Given the description of an element on the screen output the (x, y) to click on. 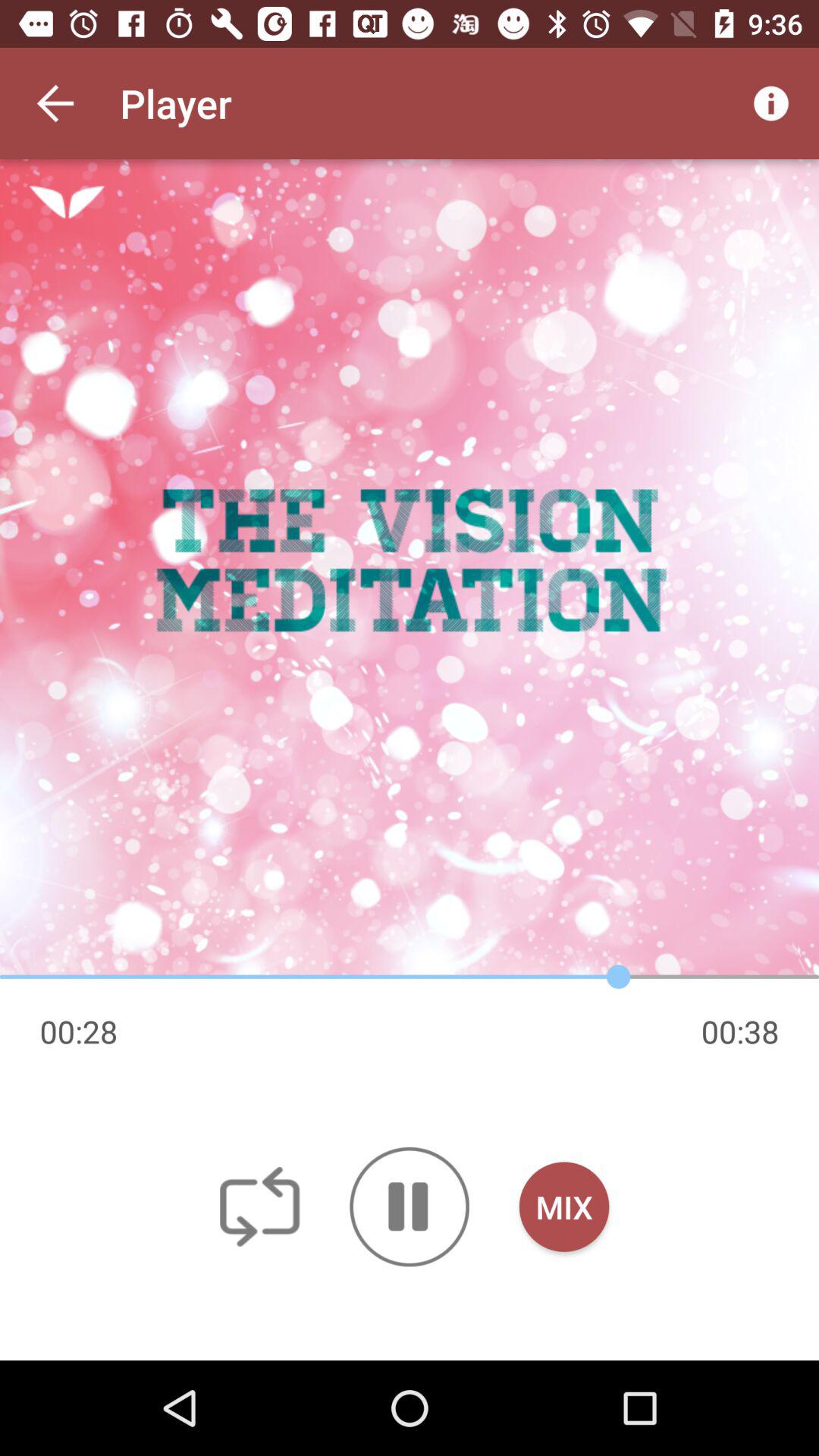
click icon at the center (409, 568)
